Given the description of an element on the screen output the (x, y) to click on. 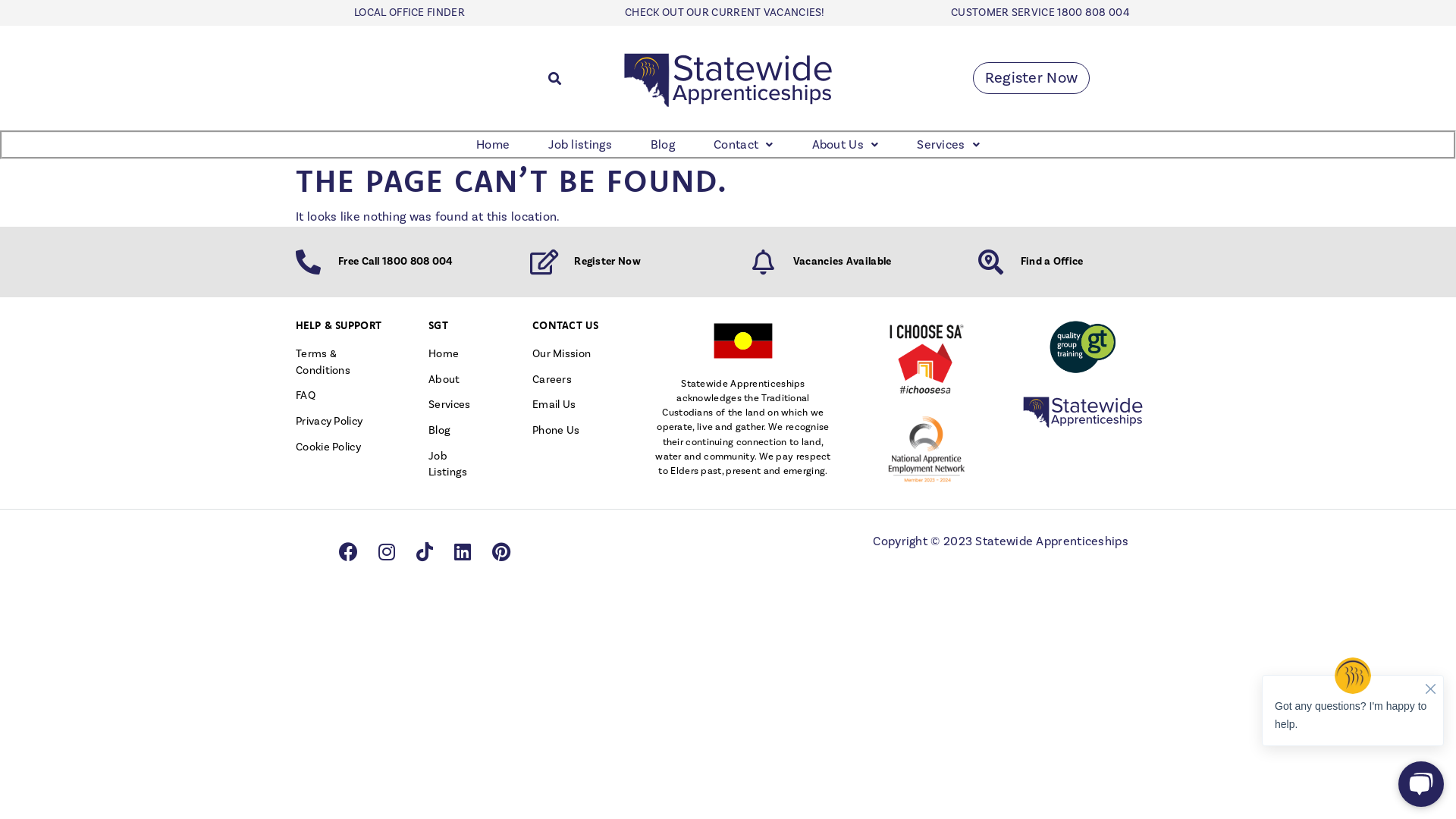
Services Element type: text (948, 144)
Our Mission Element type: text (568, 353)
Contact Element type: text (743, 144)
Job Listings Element type: text (457, 464)
Blog Element type: text (457, 430)
Find a Office Element type: text (1051, 261)
Home Element type: text (492, 144)
Search Element type: hover (550, 77)
Cookie Policy Element type: text (338, 447)
Job listings Element type: text (579, 144)
Careers Element type: text (568, 379)
About Element type: text (457, 379)
Services Element type: text (457, 404)
Phone Us Element type: text (568, 430)
Home Element type: text (457, 353)
Email Us Element type: text (568, 404)
About Us Element type: text (845, 144)
Privacy Policy Element type: text (338, 421)
CUSTOMER SERVICE 1800 808 004 Element type: text (1039, 12)
Vacancies Available Element type: text (842, 261)
Register Now Element type: text (607, 261)
CONTACT US Element type: text (565, 325)
LOCAL OFFICE FINDER Element type: text (409, 12)
Register Now Element type: text (1031, 78)
Terms & Conditions Element type: text (338, 361)
Free Call 1800 808 004 Element type: text (395, 261)
CHECK OUT OUR CURRENT VACANCIES! Element type: text (724, 12)
Blog Element type: text (662, 144)
FAQ Element type: text (338, 395)
